Given the description of an element on the screen output the (x, y) to click on. 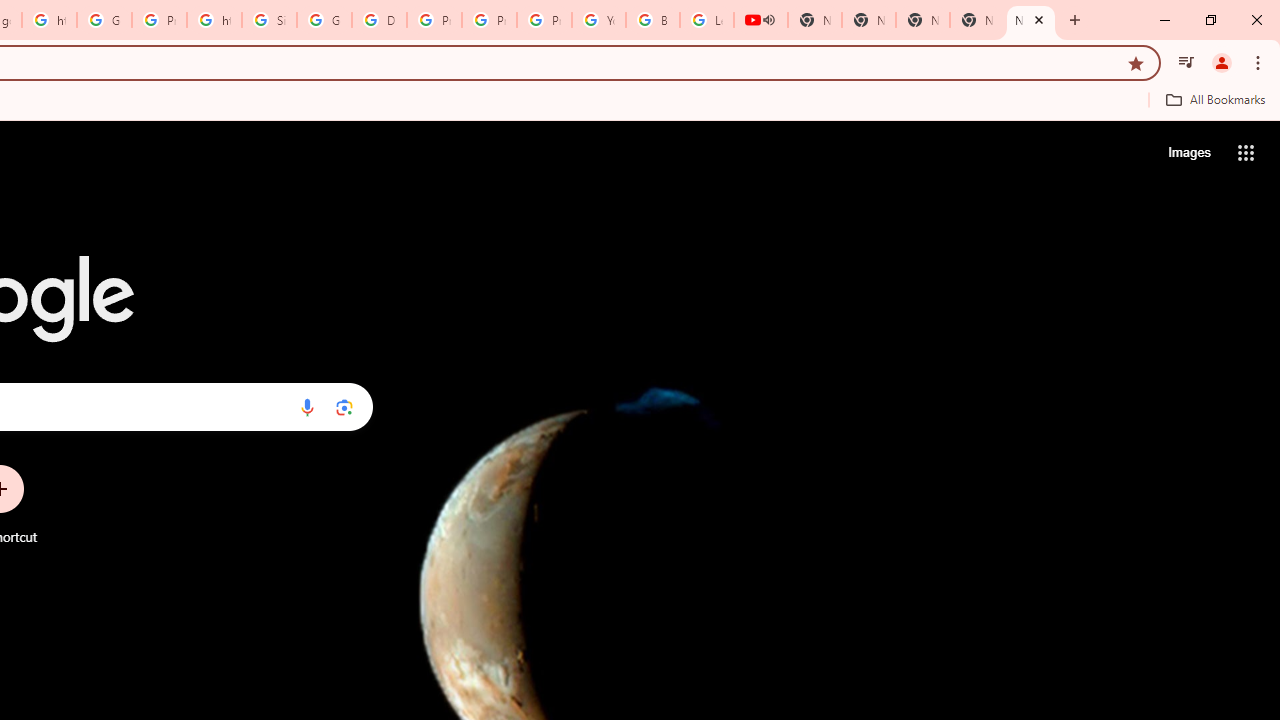
YouTube (598, 20)
Privacy Help Center - Policies Help (489, 20)
New Tab (1030, 20)
